Given the description of an element on the screen output the (x, y) to click on. 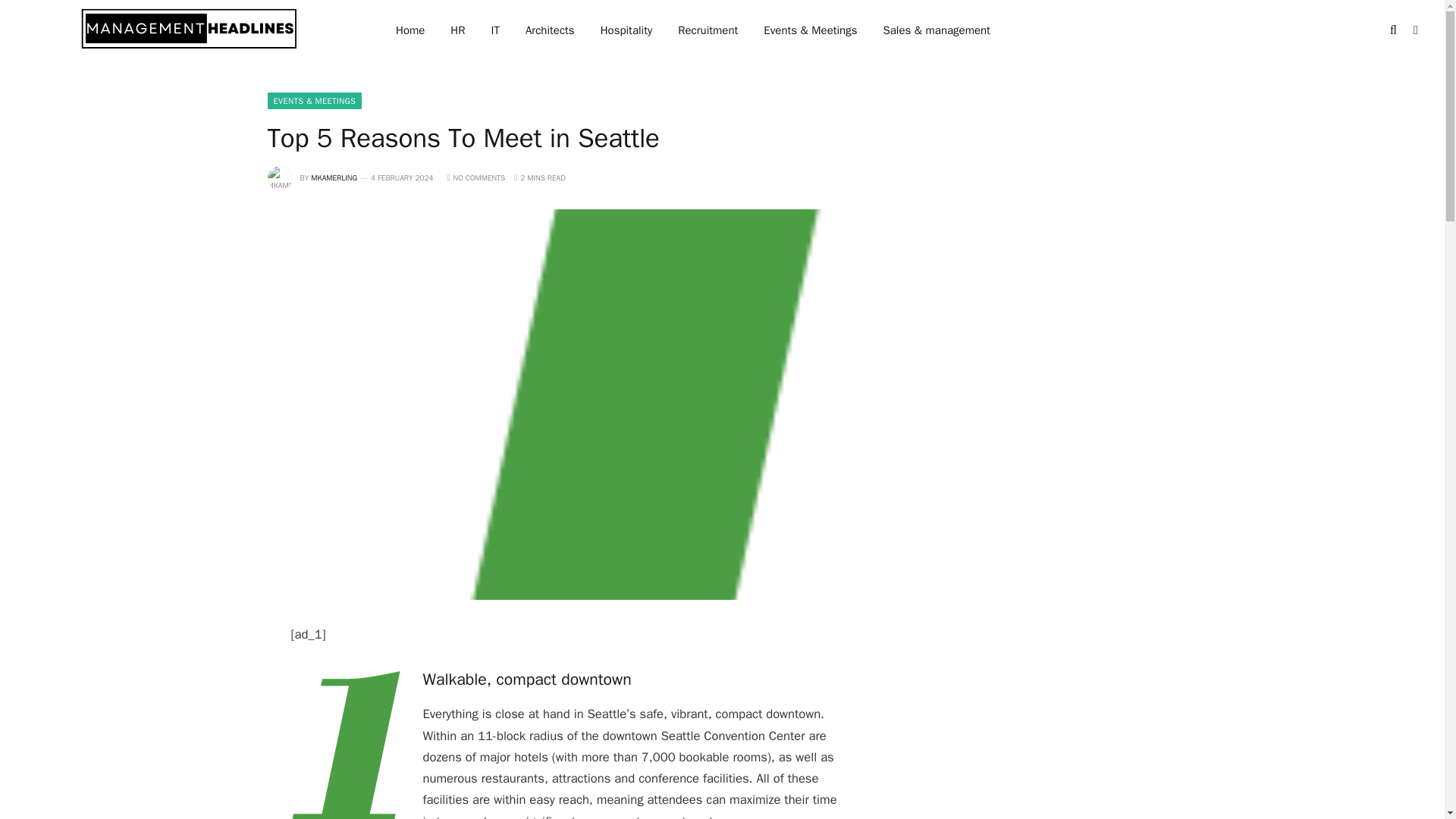
Switch to Dark Design - easier on eyes. (1414, 30)
Hospitality (626, 30)
NO COMMENTS (475, 177)
MKAMERLING (333, 177)
Home (410, 30)
Posts by Mkamerling (333, 177)
Management Headlines (189, 31)
Architects (550, 30)
Recruitment (708, 30)
